Given the description of an element on the screen output the (x, y) to click on. 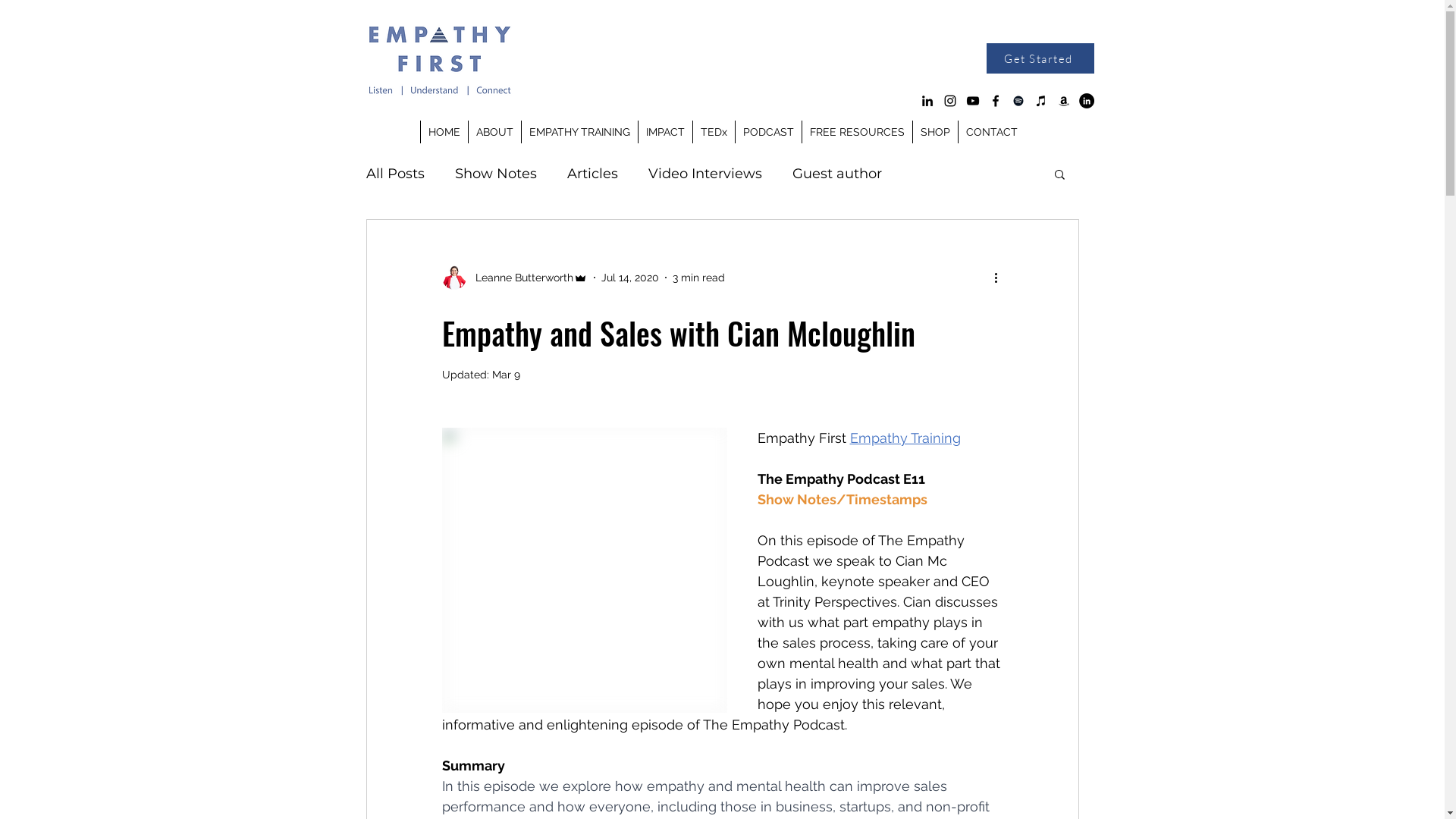
Show Notes Element type: text (495, 173)
HOME Element type: text (443, 131)
Get Started Element type: text (1039, 58)
ABOUT Element type: text (493, 131)
FREE RESOURCES Element type: text (855, 131)
Video Interviews Element type: text (704, 173)
Visitor Analytics Element type: hover (1442, 4)
SHOP Element type: text (934, 131)
All Posts Element type: text (394, 173)
PODCAST Element type: text (767, 131)
Articles Element type: text (592, 173)
Leanne Butterworth Element type: text (513, 277)
Guest author Element type: text (836, 173)
CONTACT Element type: text (990, 131)
IMPACT Element type: text (664, 131)
Empathy Training Element type: text (904, 437)
TEDx Element type: text (712, 131)
